Given the description of an element on the screen output the (x, y) to click on. 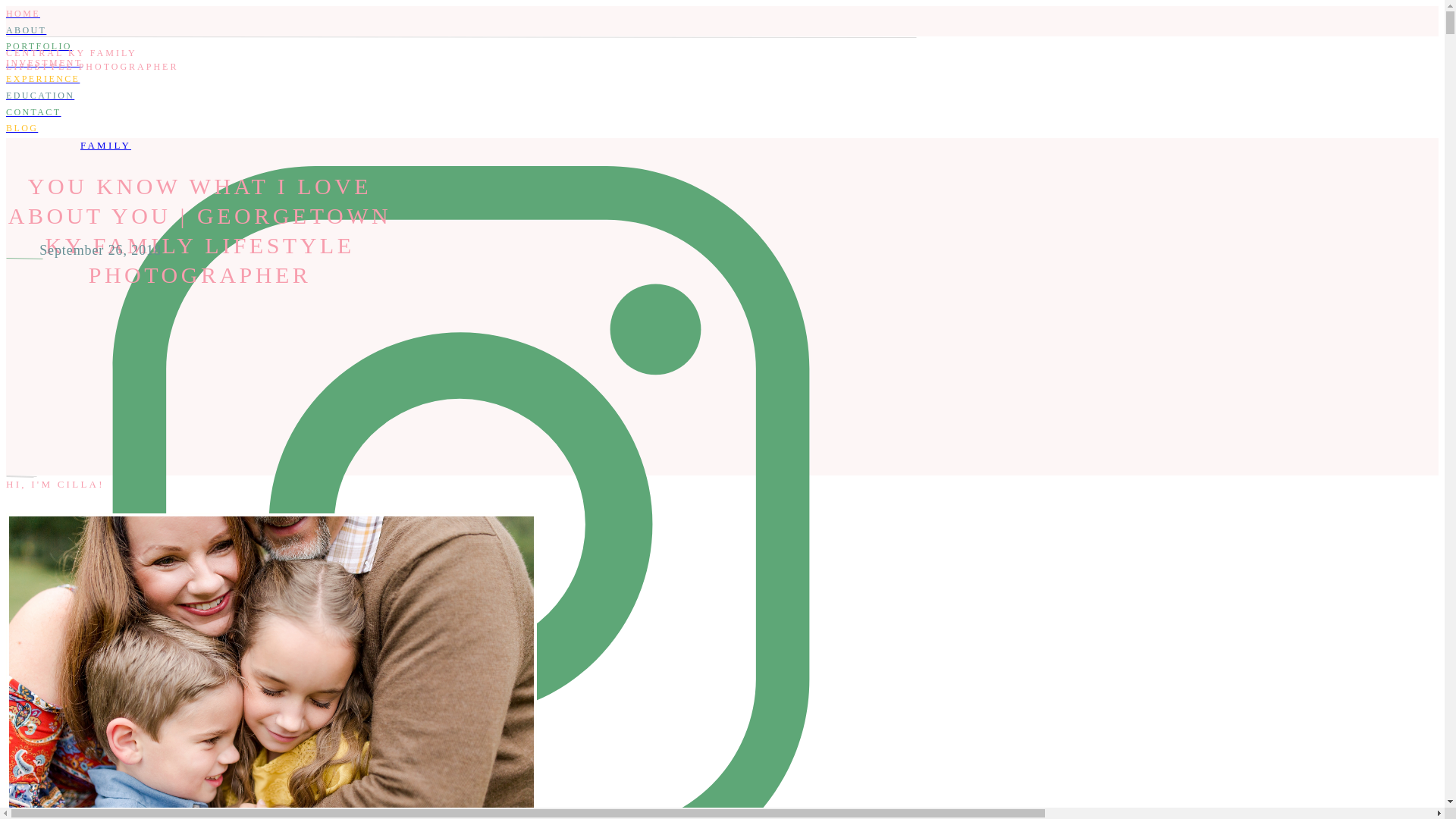
PORTFOLIO (460, 46)
BLOG (460, 128)
EXPERIENCE (460, 79)
HOME (460, 13)
EDUCATION (460, 95)
arrow (460, 798)
INVESTMENT (460, 63)
ABOUT (460, 30)
CONTACT (460, 112)
arrow (460, 798)
FAMILY (105, 144)
LEARN MORE (460, 768)
